Given the description of an element on the screen output the (x, y) to click on. 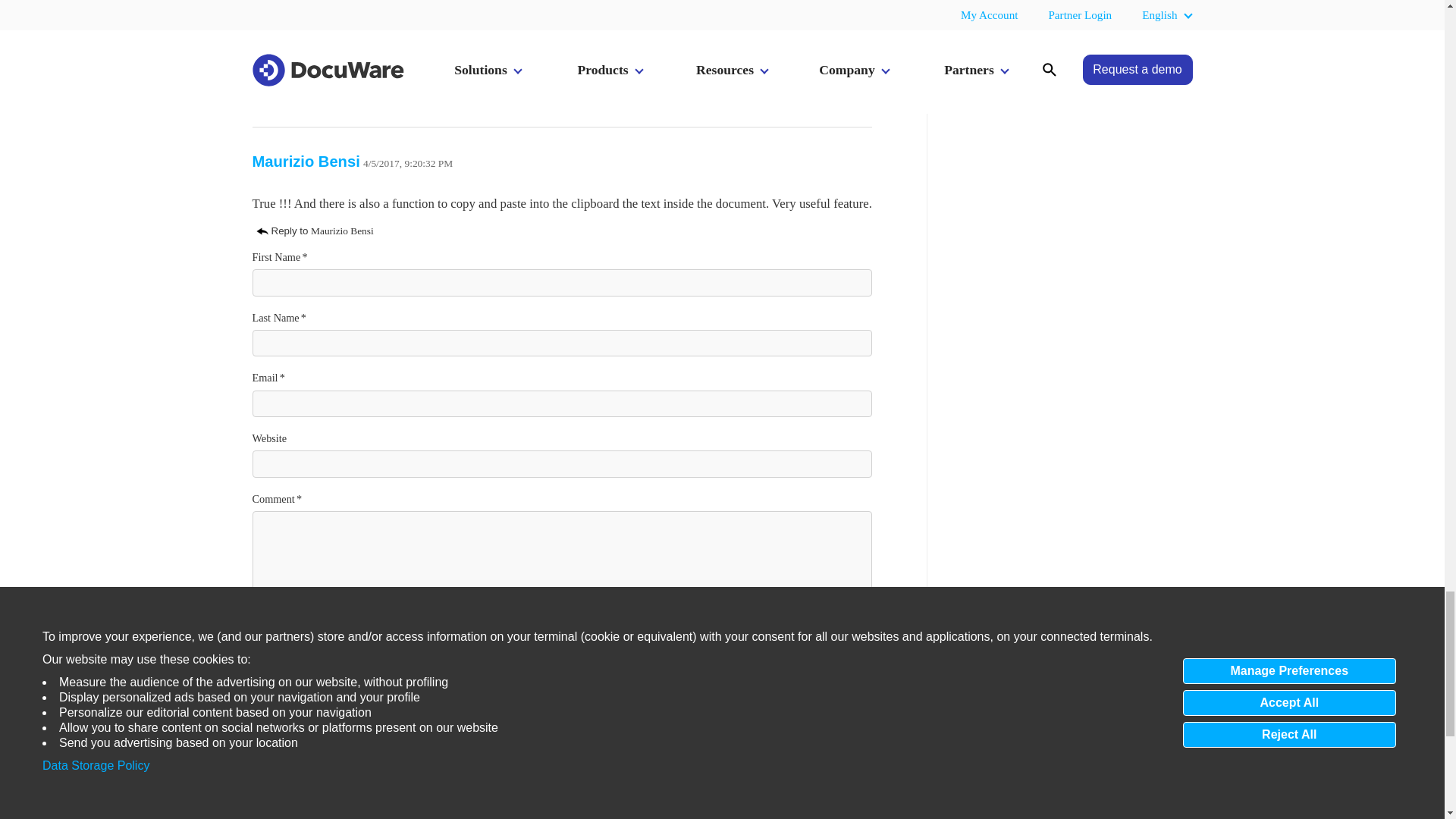
true (259, 675)
true (259, 643)
Submit Comment (317, 720)
